Given the description of an element on the screen output the (x, y) to click on. 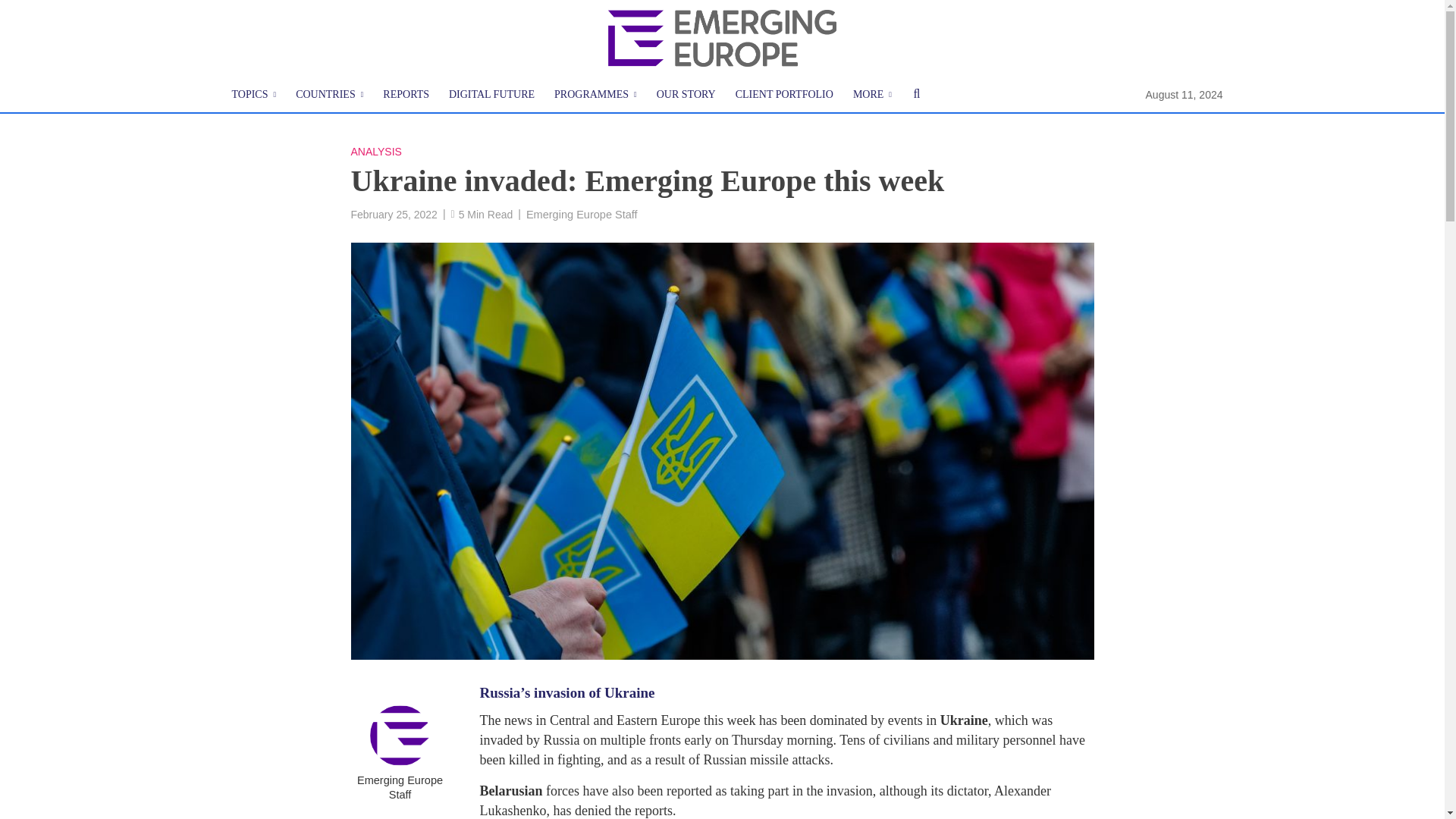
REPORTS (405, 94)
TOPICS (253, 94)
PROGRAMMES (595, 94)
DIGITAL FUTURE (491, 94)
COUNTRIES (328, 94)
